Given the description of an element on the screen output the (x, y) to click on. 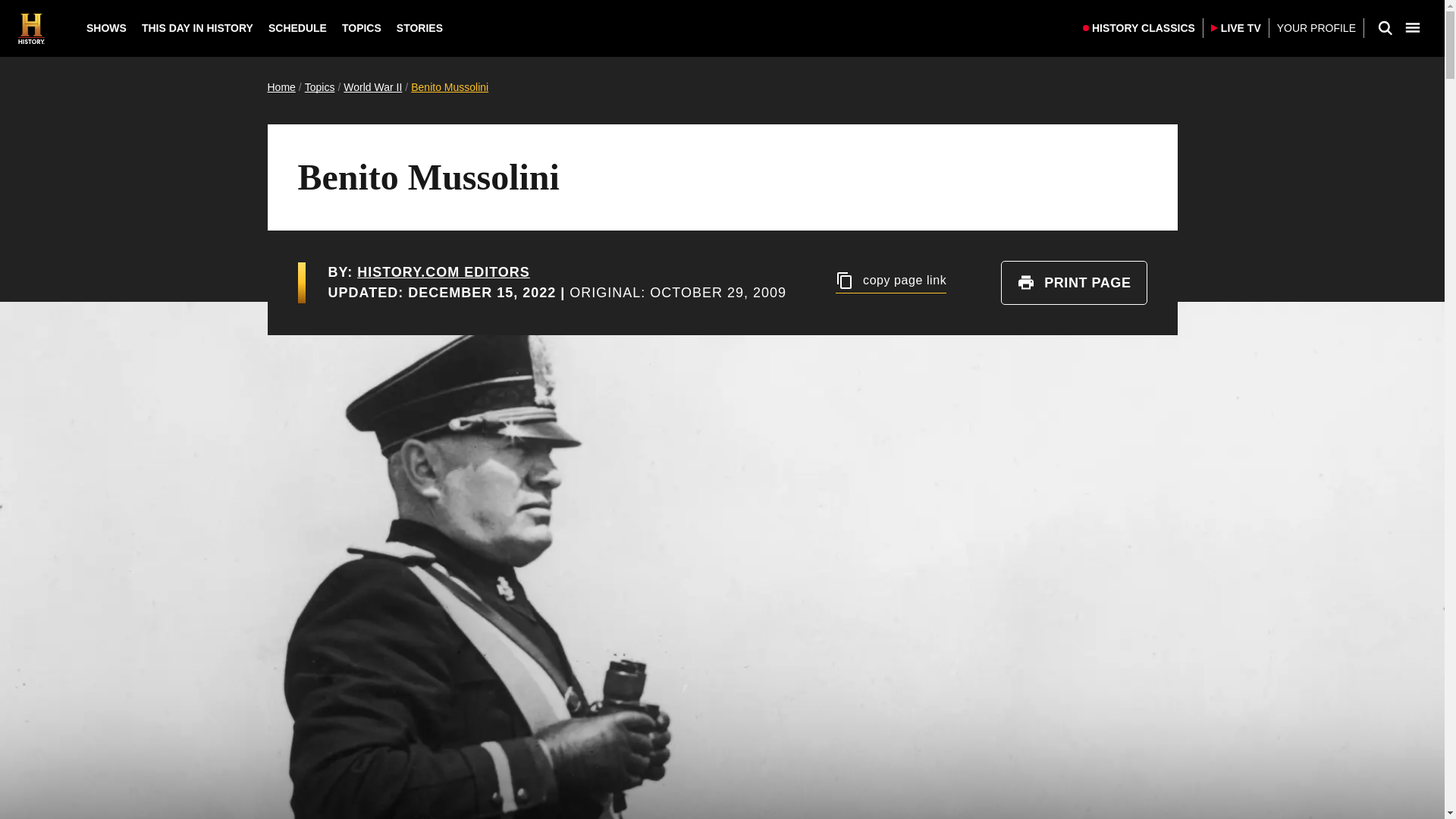
HISTORY.COM EDITORS (442, 272)
LIVE TV (1236, 28)
TOPICS (361, 28)
PRINT PAGE (1074, 282)
Topics (319, 87)
Print (1025, 282)
World War II (372, 87)
copy page link (890, 282)
SHOWS (105, 28)
SCHEDULE (297, 28)
THIS DAY IN HISTORY (196, 28)
HISTORY CLASSICS (1138, 28)
Home (280, 87)
STORIES (418, 28)
YOUR PROFILE (1315, 28)
